Given the description of an element on the screen output the (x, y) to click on. 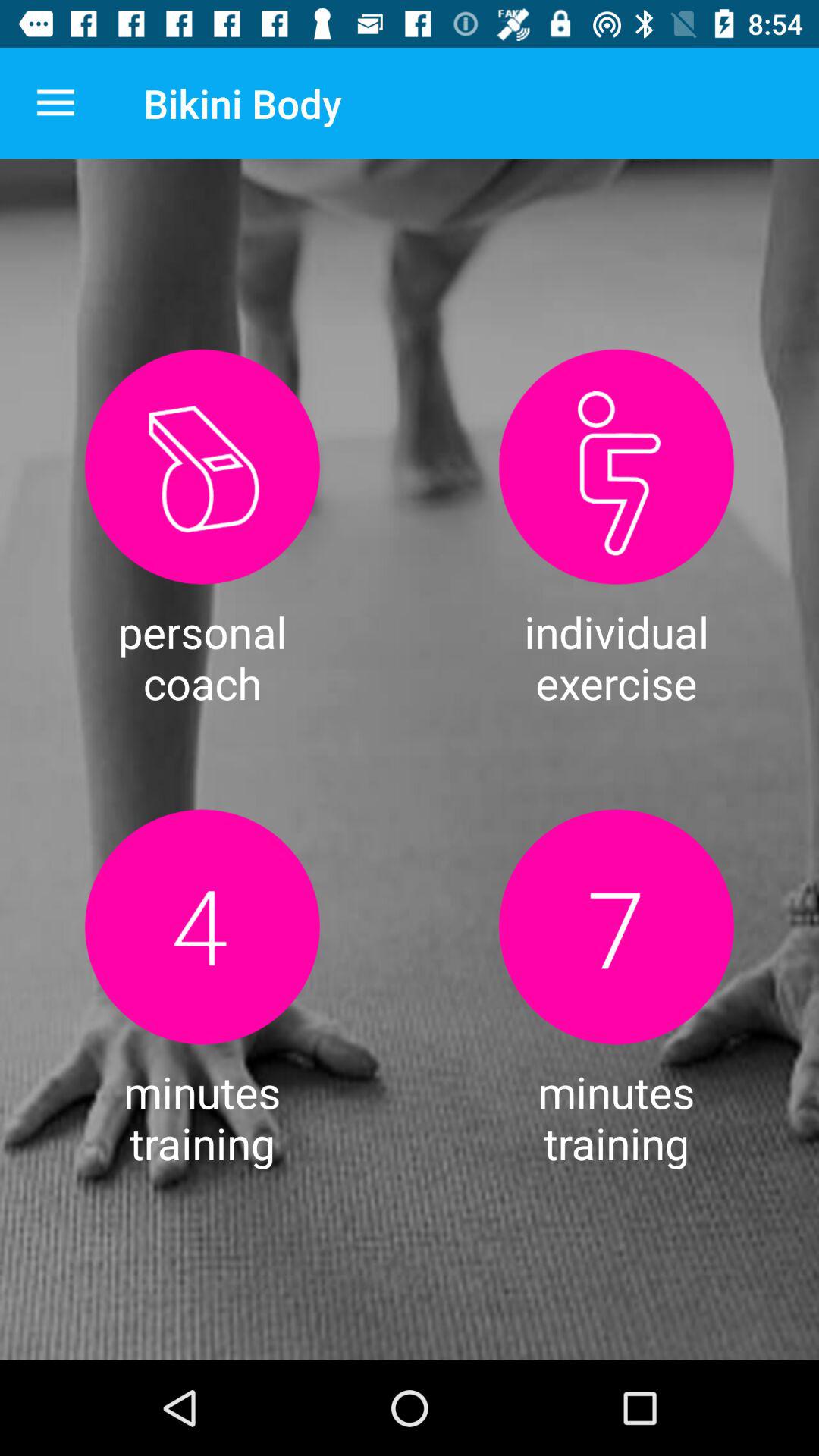
select the personal coach (202, 466)
